Given the description of an element on the screen output the (x, y) to click on. 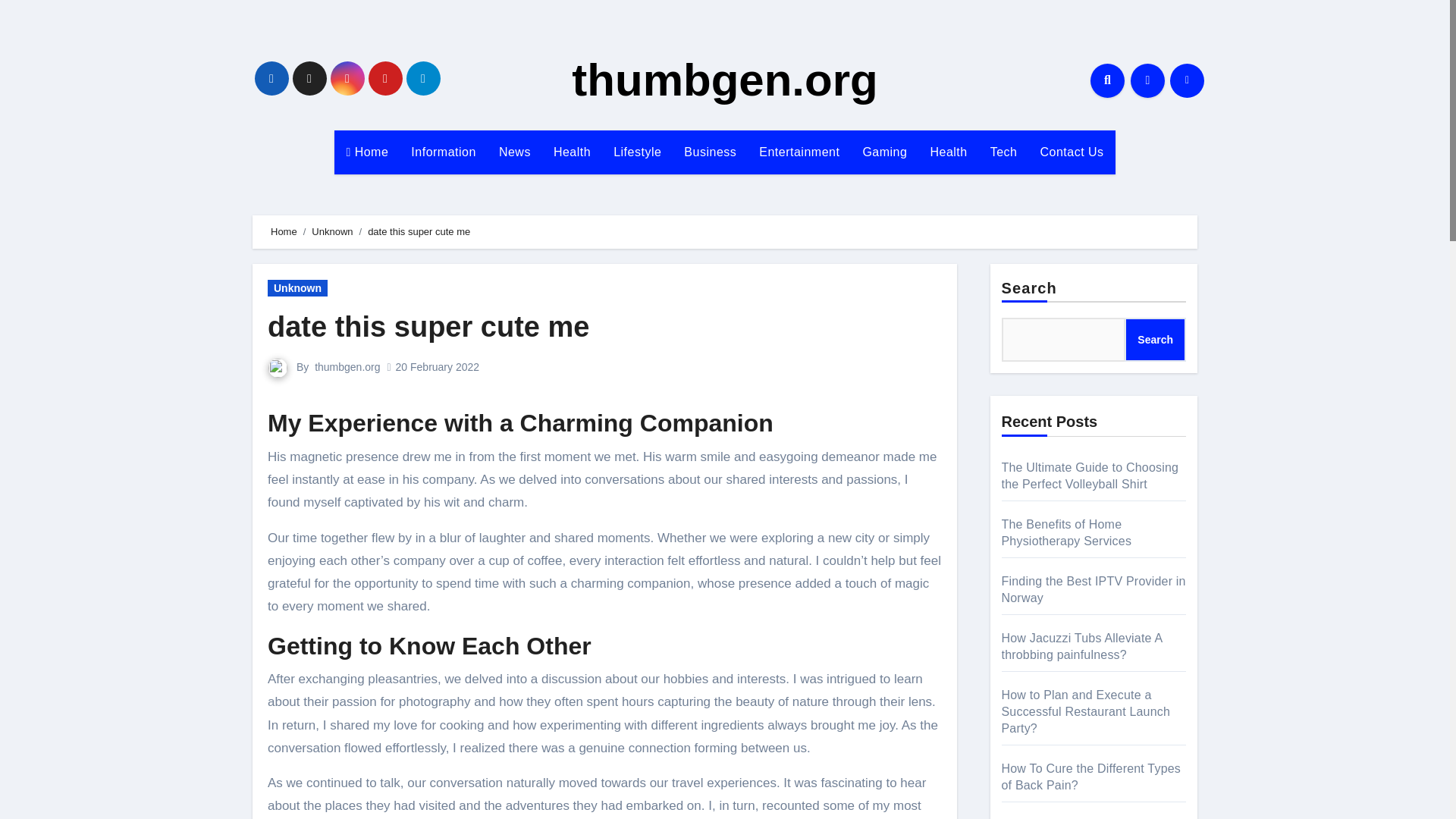
Gaming (884, 152)
Information (442, 152)
Entertainment (799, 152)
Health (571, 152)
Home (366, 152)
Contact Us (1071, 152)
Lifestyle (637, 152)
Contact Us (1071, 152)
Unknown (297, 288)
thumbgen.org (724, 79)
